Given the description of an element on the screen output the (x, y) to click on. 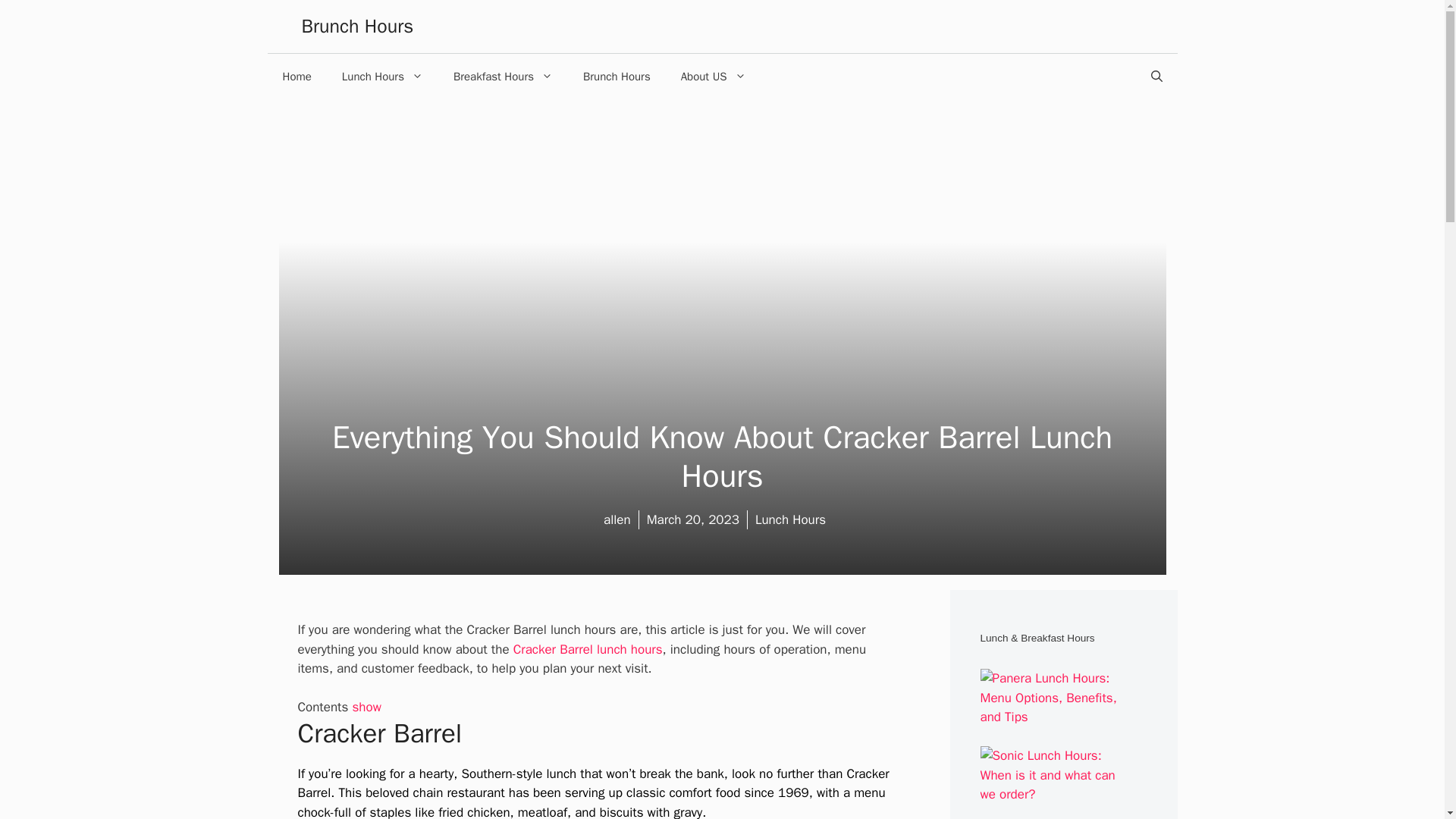
Brunch Hours (357, 25)
Lunch Hours (382, 76)
Sonic Lunch Hours: When is it and what can we order? (1052, 794)
show (366, 706)
Breakfast Hours (502, 76)
About US (713, 76)
Cracker Barrel lunch hours (587, 649)
Brunch Hours (616, 76)
Home (296, 76)
Panera Lunch Hours: Menu Options, Benefits, and Tips (1052, 716)
